Given the description of an element on the screen output the (x, y) to click on. 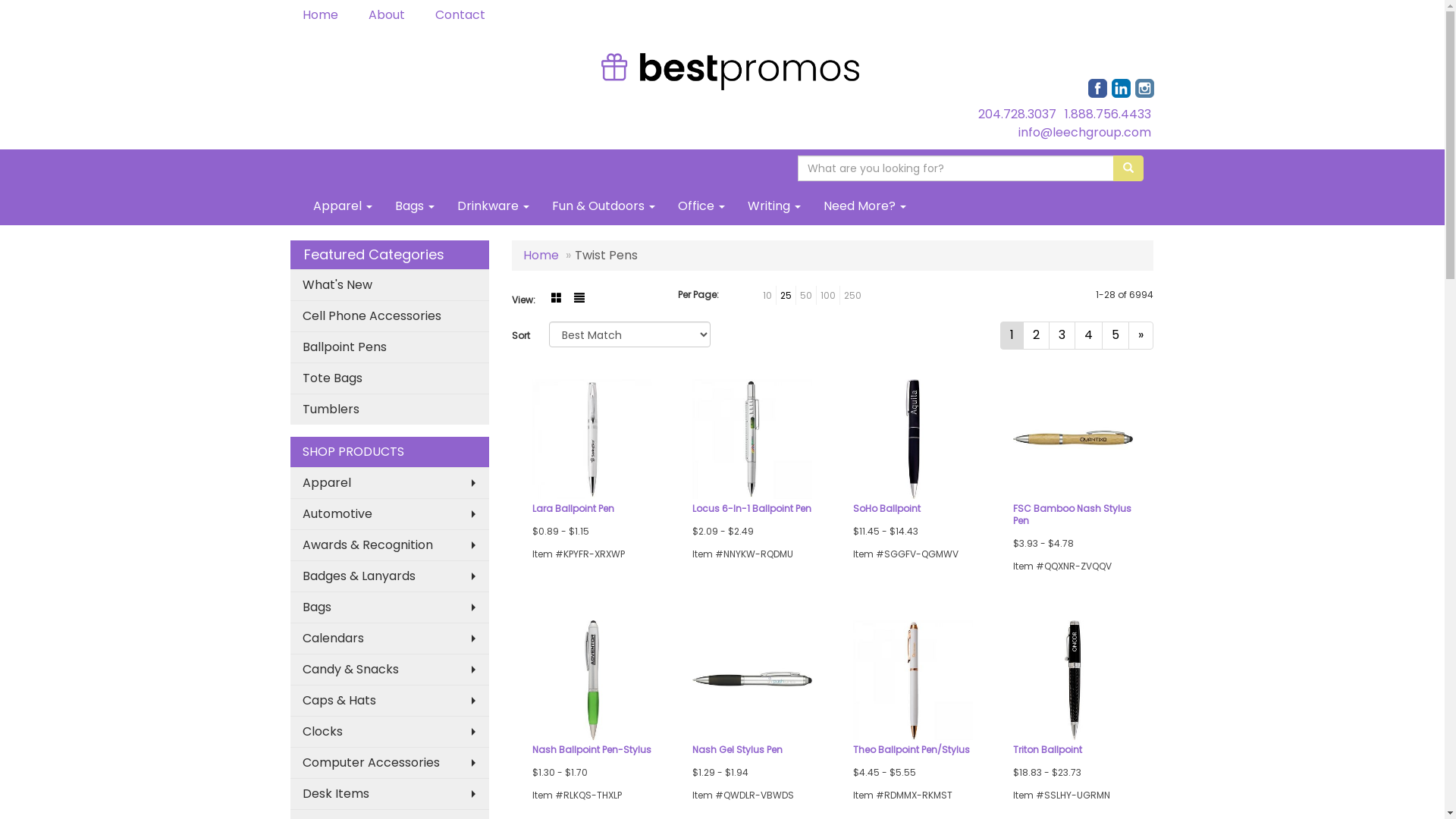
Visit us on Facebook Element type: hover (1096, 87)
1.888.756.4433 Element type: text (1107, 113)
Writing Element type: text (773, 206)
Candy & Snacks Element type: text (389, 668)
Fun & Outdoors Element type: text (602, 206)
Office Element type: text (700, 206)
Visit us on Instagram Element type: hover (1143, 87)
Badges & Lanyards Element type: text (389, 575)
Desk Items Element type: text (389, 793)
204.728.3037 Element type: text (1017, 113)
Clocks Element type: text (389, 730)
Cell Phone Accessories Element type: text (389, 315)
Calendars Element type: text (389, 637)
Awards & Recognition Element type: text (389, 544)
Apparel Element type: text (342, 206)
Bags Element type: text (389, 606)
Computer Accessories Element type: text (389, 762)
Visit us on LinkedIn Element type: hover (1120, 87)
Ballpoint Pens Element type: text (389, 346)
Caps & Hats Element type: text (389, 699)
Automotive Element type: text (389, 513)
About Element type: text (389, 15)
Apparel Element type: text (389, 482)
info@leechgroup.com Element type: text (1083, 132)
Tumblers Element type: text (389, 408)
Bags Element type: text (414, 206)
Drinkware Element type: text (492, 206)
Home Element type: text (322, 15)
Contact Element type: text (463, 15)
My Quotes Element type: text (1111, 61)
Need More? Element type: text (863, 206)
What's New Element type: text (389, 284)
Tote Bags Element type: text (389, 377)
